Given the description of an element on the screen output the (x, y) to click on. 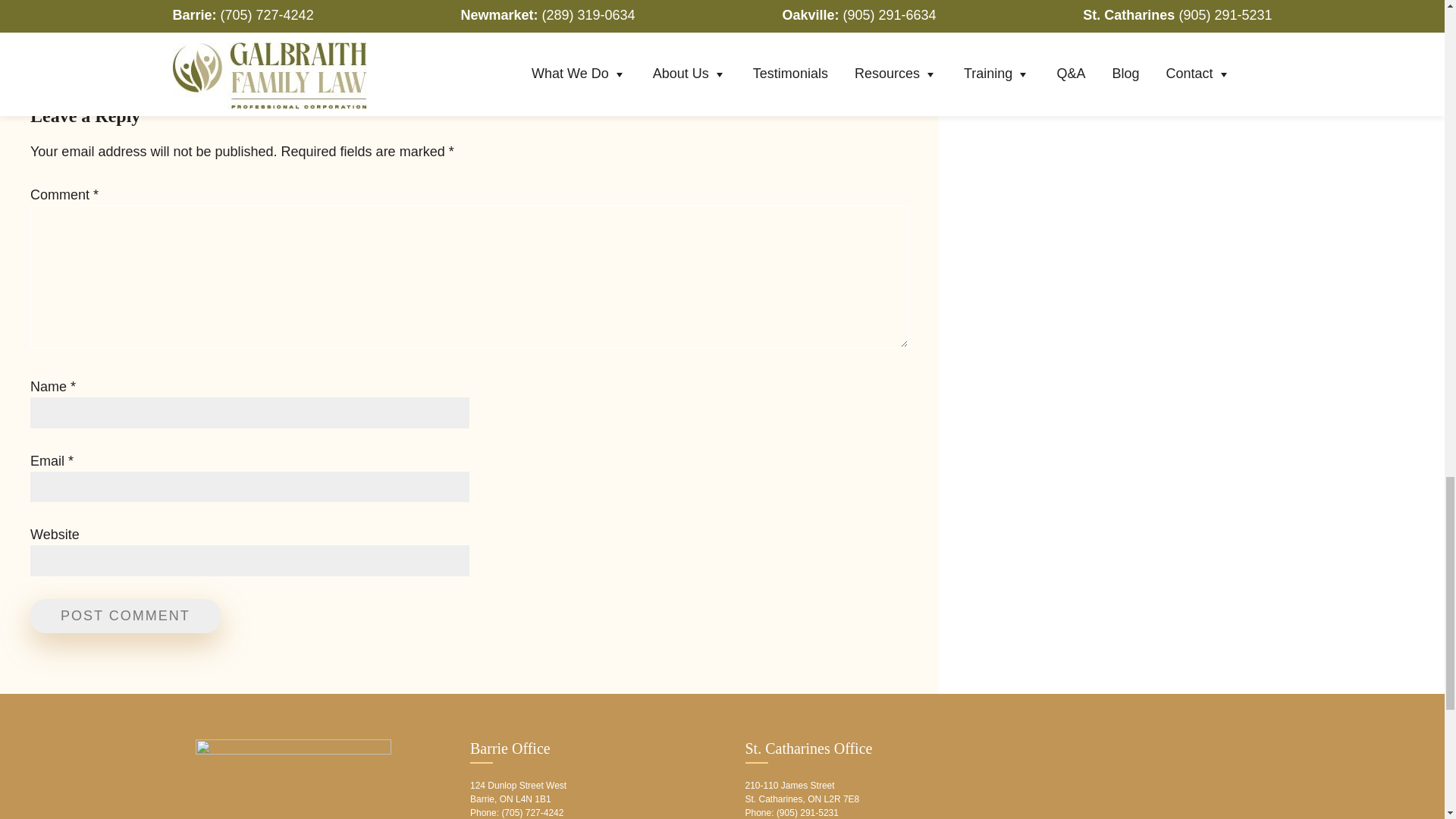
Post Comment (125, 615)
